Given the description of an element on the screen output the (x, y) to click on. 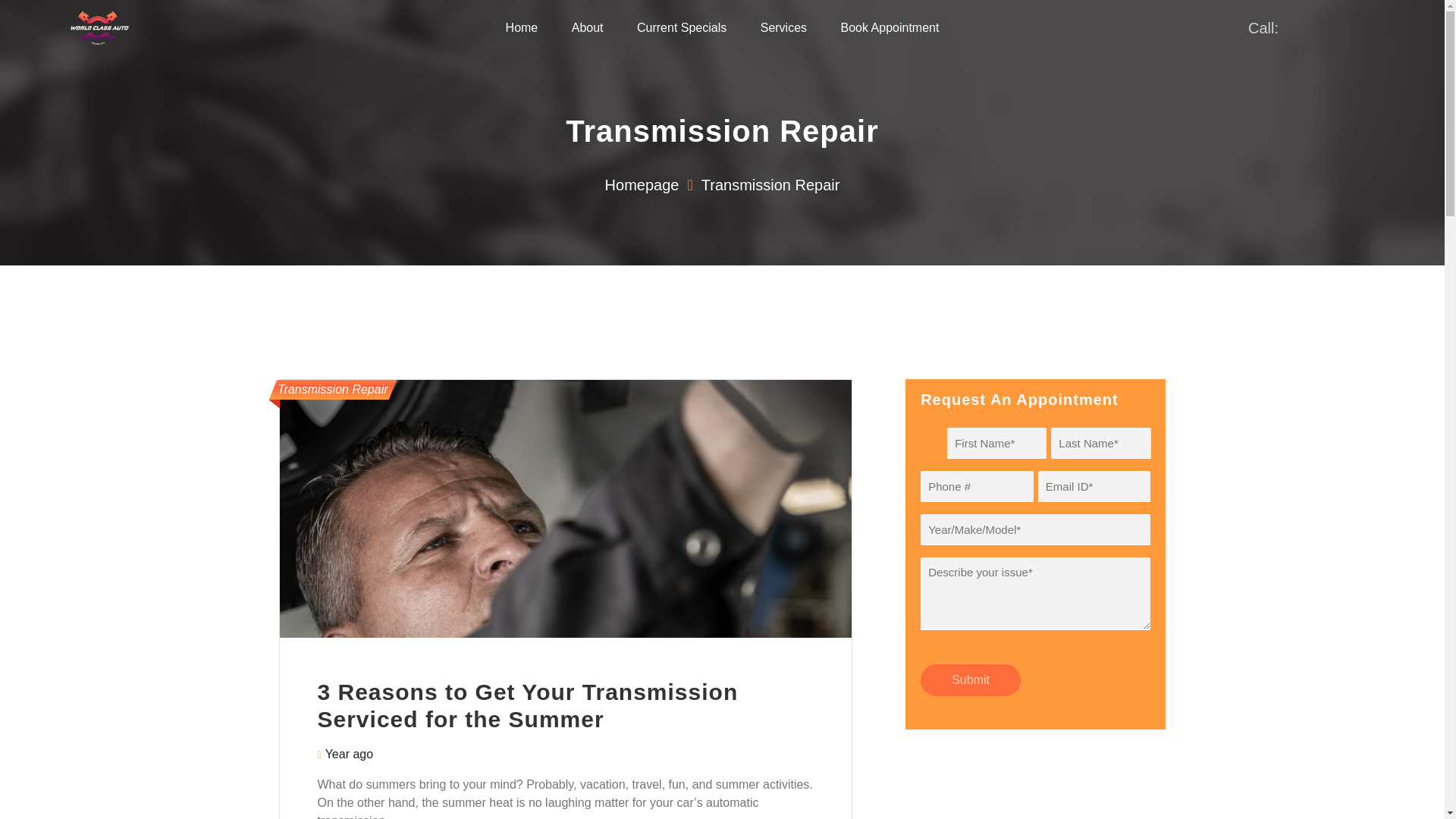
3 Reasons to Get Your Transmission Serviced for the Summer (527, 705)
Submit (970, 680)
Homepage (642, 184)
Submit (970, 680)
Book Appointment (890, 28)
Current Specials (681, 28)
919 876-8011 (1328, 27)
Transmission Repair (333, 389)
Year ago (348, 753)
